Given the description of an element on the screen output the (x, y) to click on. 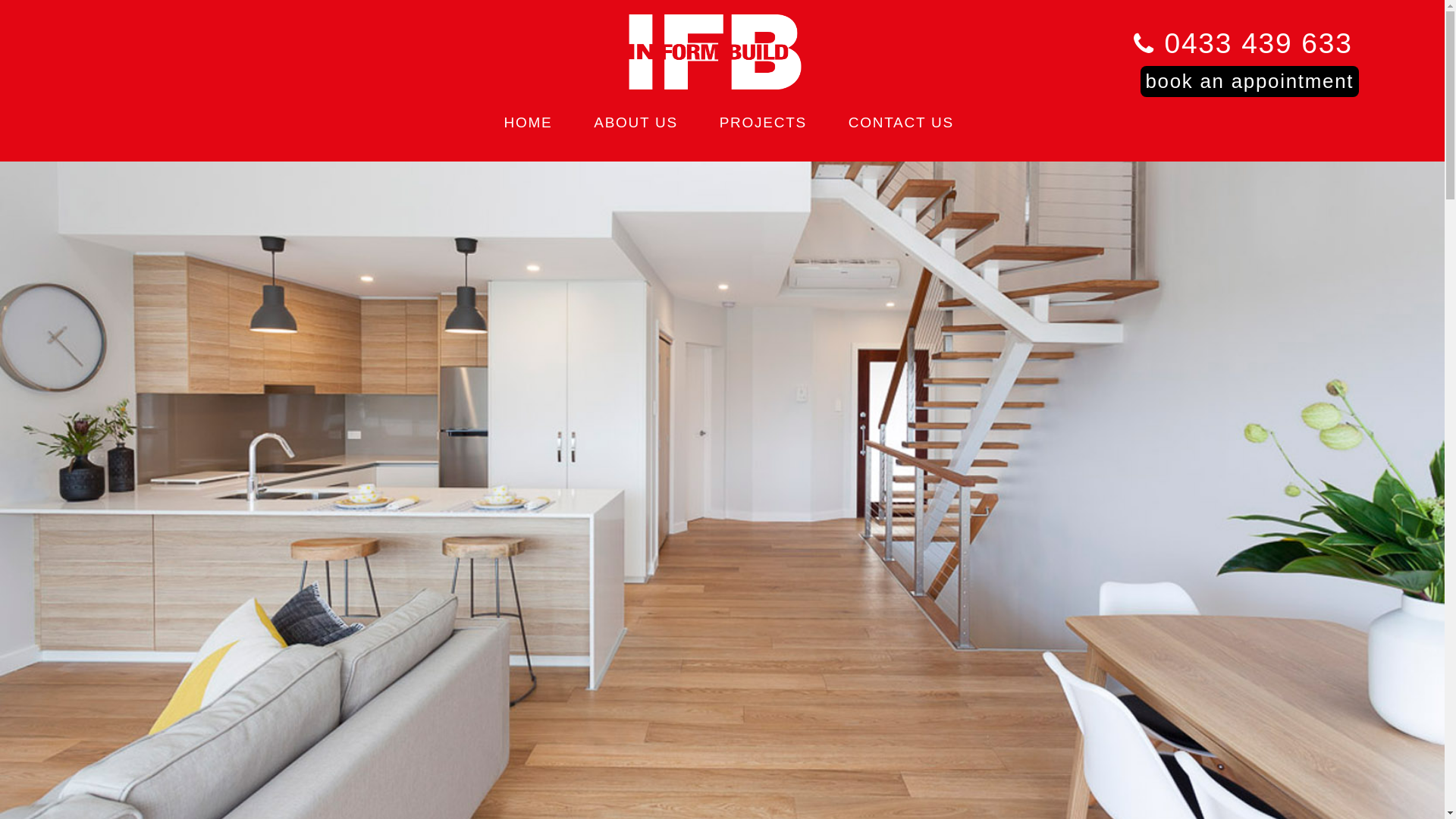
book an appointment Element type: text (1249, 81)
CONTACT US Element type: text (901, 122)
0433 439 633 Element type: text (1242, 43)
HOME Element type: text (528, 122)
ABOUT US Element type: text (635, 122)
PROJECTS Element type: text (763, 122)
